Given the description of an element on the screen output the (x, y) to click on. 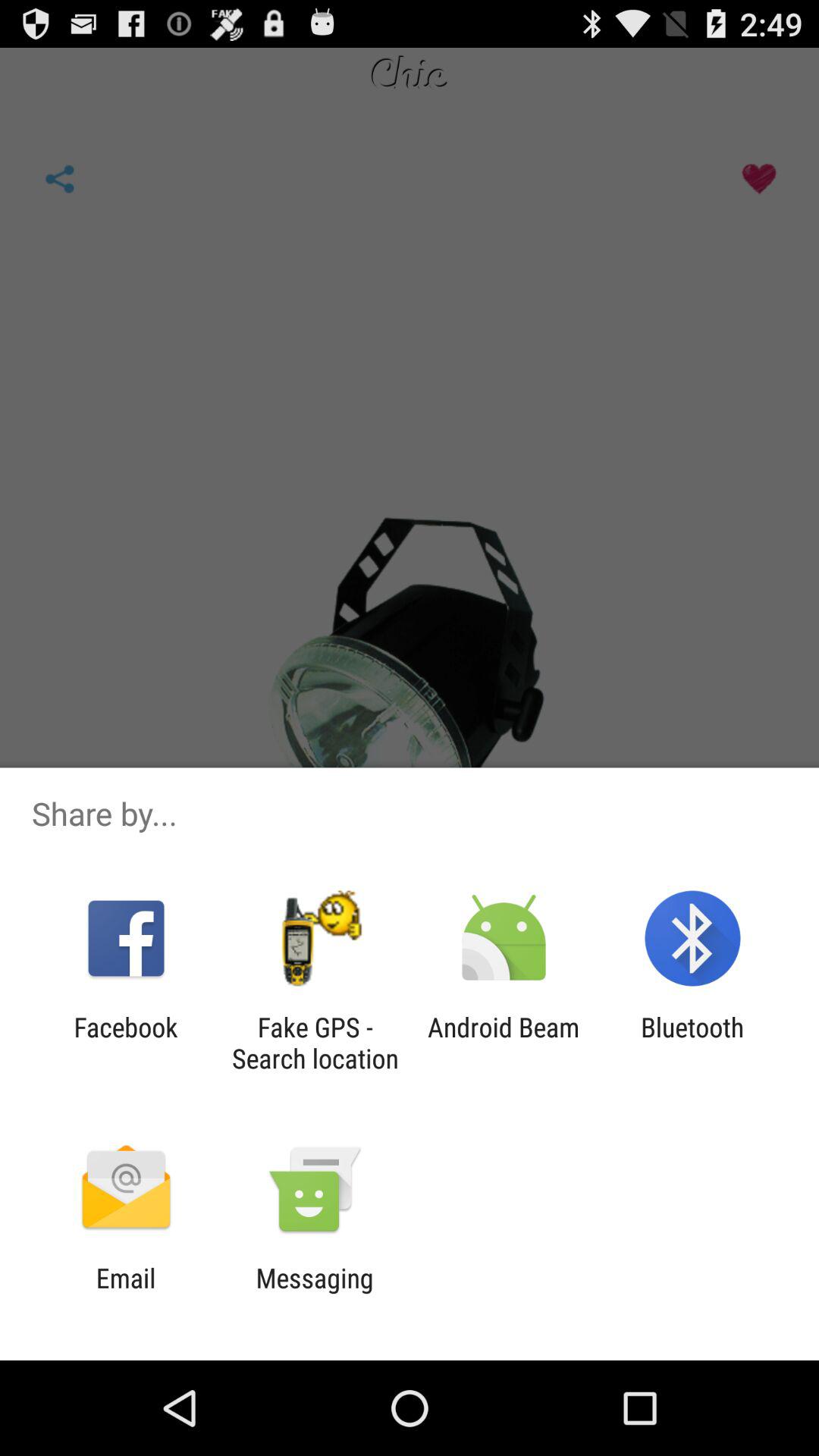
tap app next to facebook icon (314, 1042)
